Given the description of an element on the screen output the (x, y) to click on. 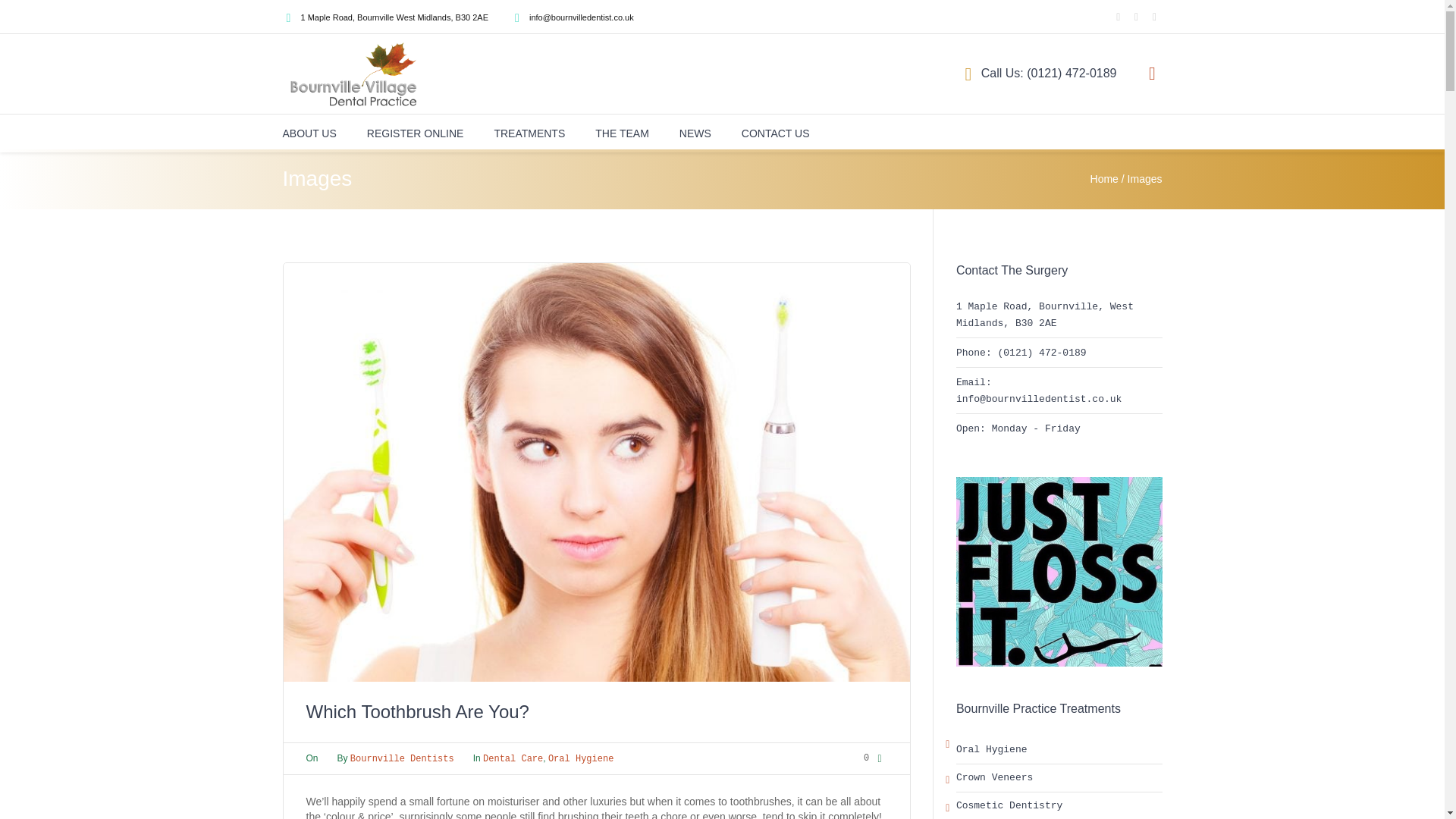
REGISTER ONLINE (415, 133)
Dental Care (513, 758)
1 Maple Road, Bournville West Midlands, B30 2AE (393, 16)
Facebook (1118, 17)
Bournville Dentists (402, 758)
Twitter (1136, 17)
Oral Hygiene (580, 758)
CONTACT US (775, 133)
Home (1104, 178)
Which Toothbrush Are You? (596, 471)
Posts by Bournville Dentists (402, 758)
TREATMENTS (528, 133)
ABOUT US (309, 133)
0 (874, 758)
THE TEAM (622, 133)
